Given the description of an element on the screen output the (x, y) to click on. 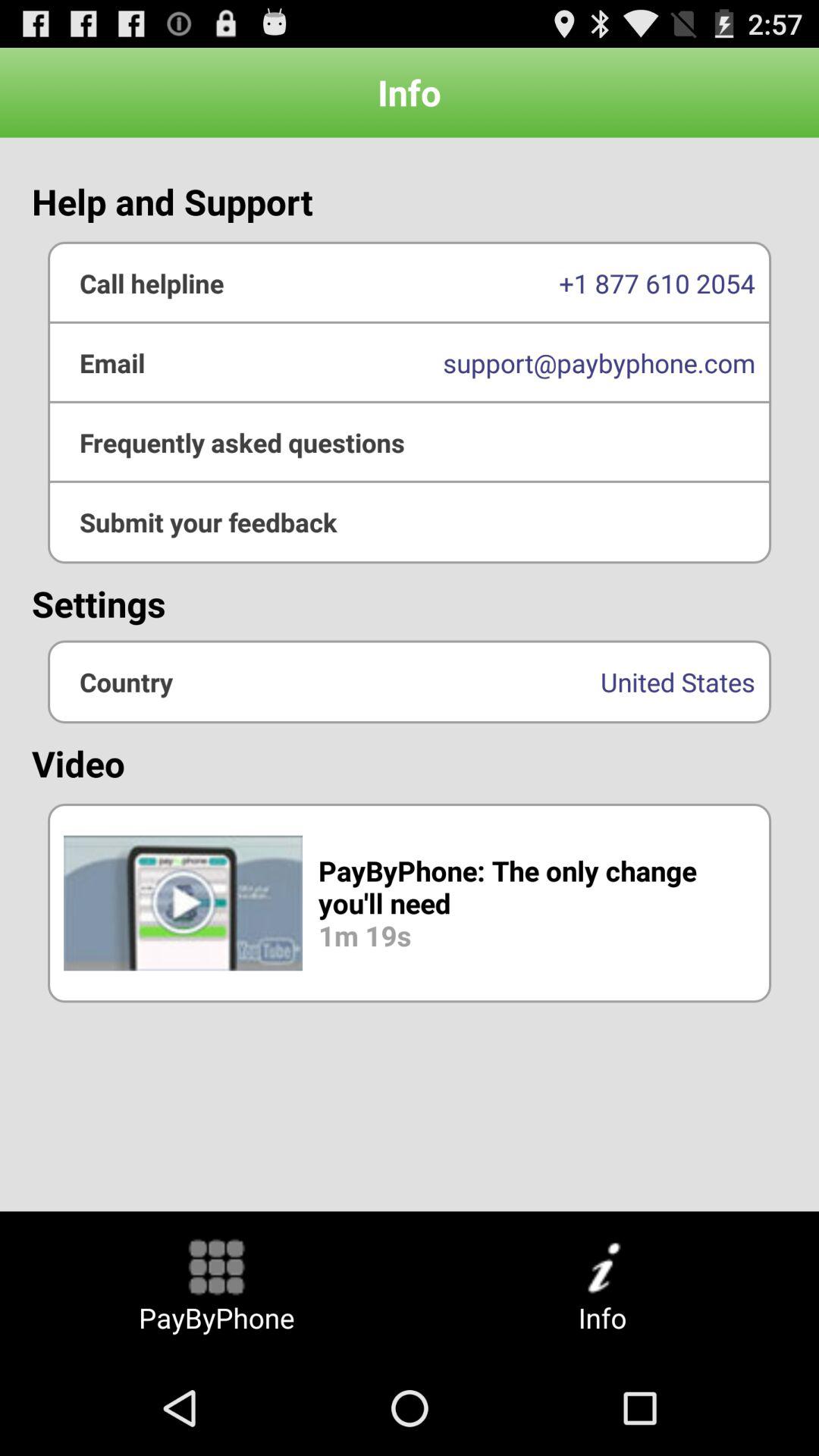
turn off app above settings app (409, 521)
